Given the description of an element on the screen output the (x, y) to click on. 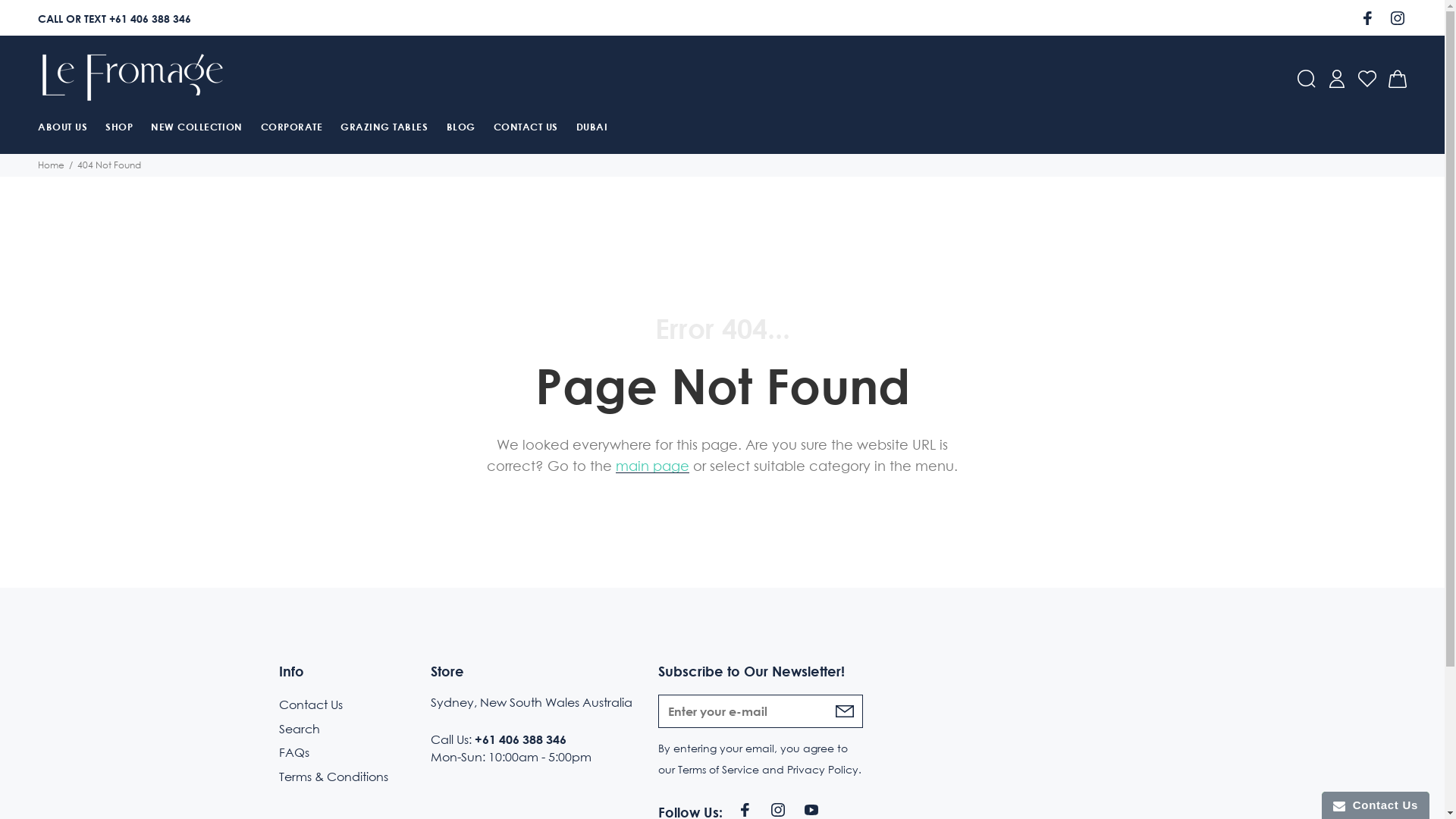
main page Element type: text (652, 465)
DUBAI Element type: text (587, 128)
FAQs Element type: text (294, 752)
Home Element type: text (50, 164)
BLOG Element type: text (460, 128)
CONTACT US Element type: text (525, 128)
GRAZING TABLES Element type: text (383, 128)
SHOP Element type: text (118, 128)
Search Element type: text (299, 729)
ABOUT US Element type: text (66, 128)
Contact Us Element type: text (310, 706)
Terms & Conditions Element type: text (333, 775)
CORPORATE Element type: text (291, 128)
NEW COLLECTION Element type: text (196, 128)
